Given the description of an element on the screen output the (x, y) to click on. 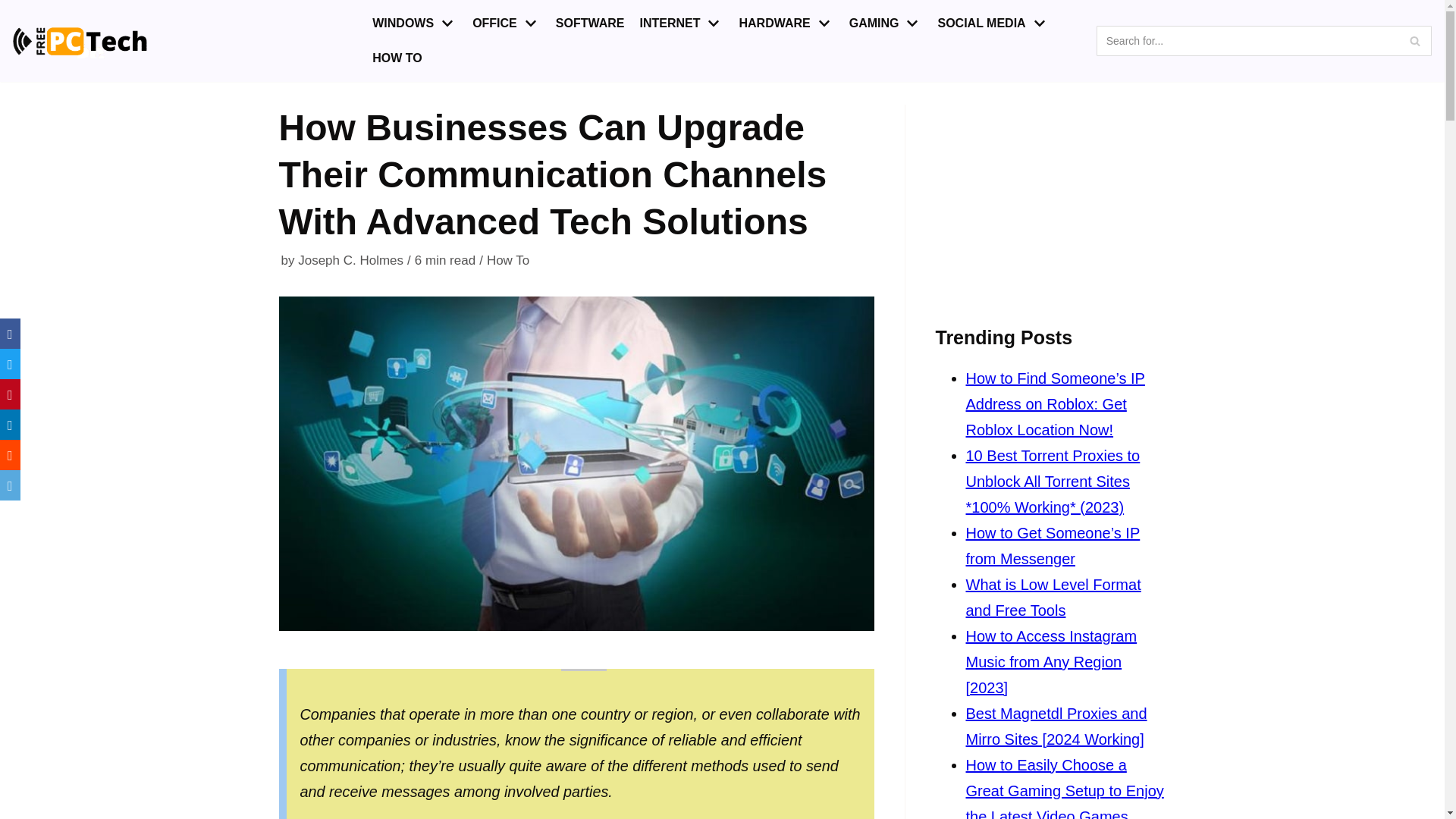
SOFTWARE (590, 23)
INTERNET (681, 23)
HOW TO (397, 57)
Skip to content (15, 7)
WINDOWS (414, 23)
SOCIAL MEDIA (992, 23)
GAMING (885, 23)
Posts by Joseph C. Holmes (350, 260)
Free PC Tech (79, 40)
HARDWARE (785, 23)
OFFICE (505, 23)
